Given the description of an element on the screen output the (x, y) to click on. 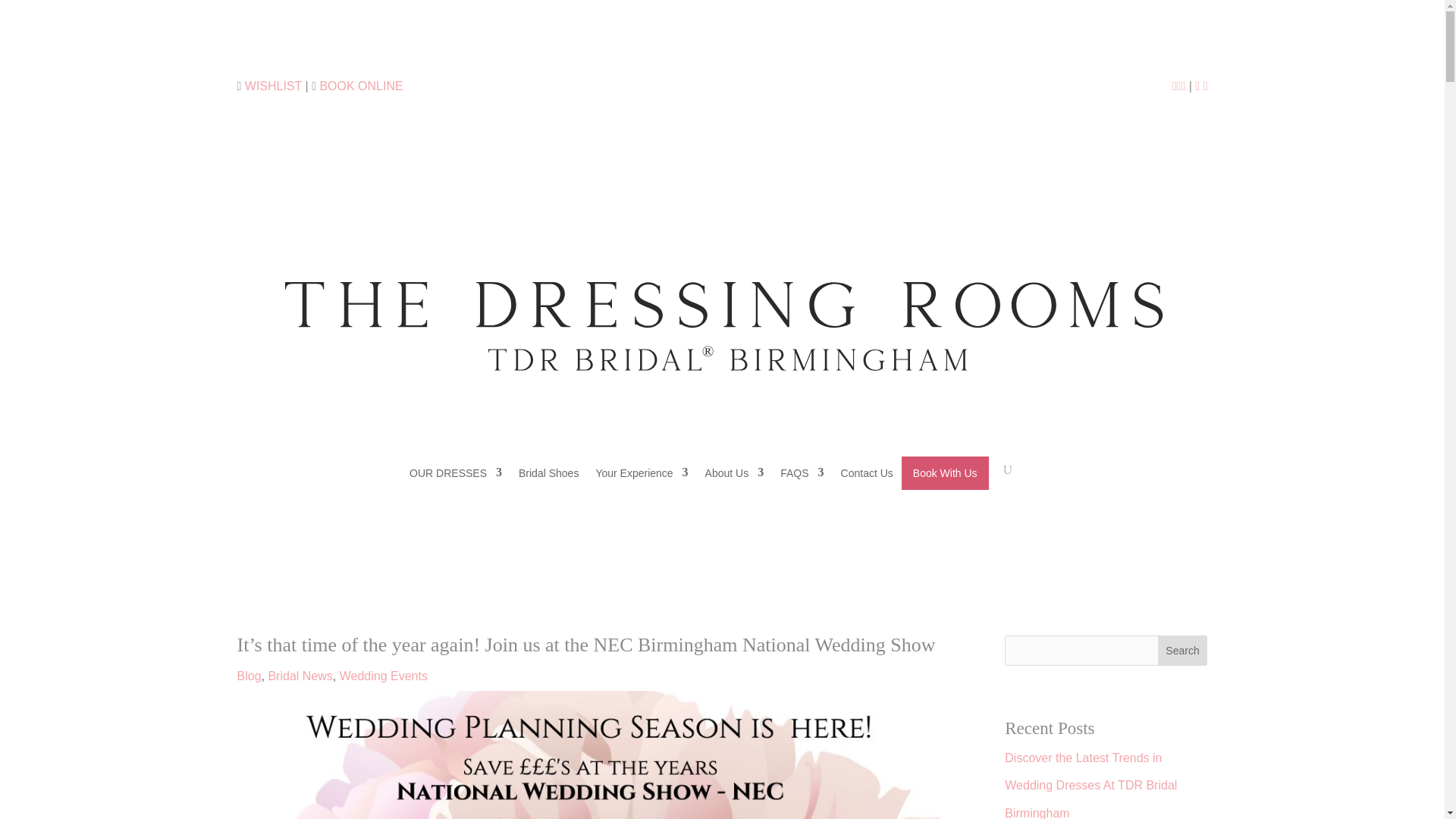
Your Experience (641, 472)
Wedding Events (383, 675)
Book With Us (944, 472)
Blog (247, 675)
OUR DRESSES (455, 472)
FAQS (802, 472)
Contact Us (867, 472)
Bridal News (299, 675)
About Us (734, 472)
